Given the description of an element on the screen output the (x, y) to click on. 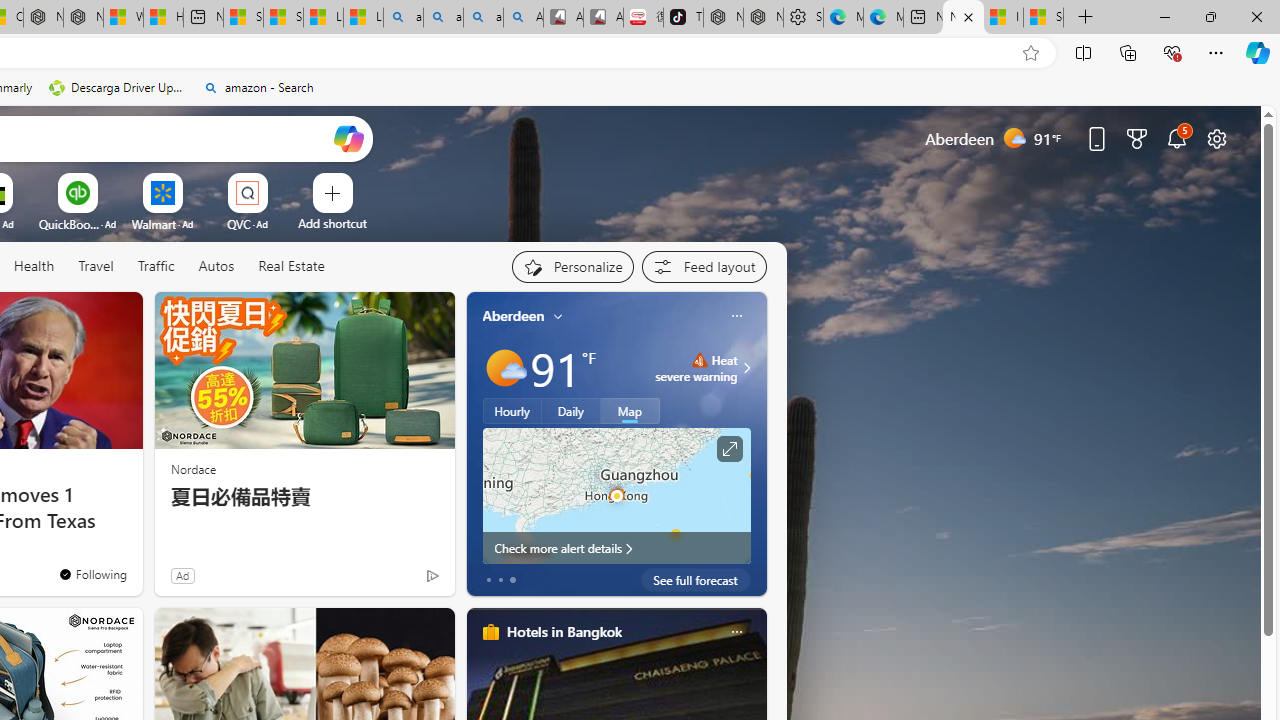
Amazon Echo Robot - Search Images (523, 17)
You're following Newsweek (92, 573)
Page settings (1216, 138)
tab-0 (488, 579)
Feed settings (703, 266)
Larger map  (616, 495)
tab-1 (500, 579)
Health (33, 267)
